Given the description of an element on the screen output the (x, y) to click on. 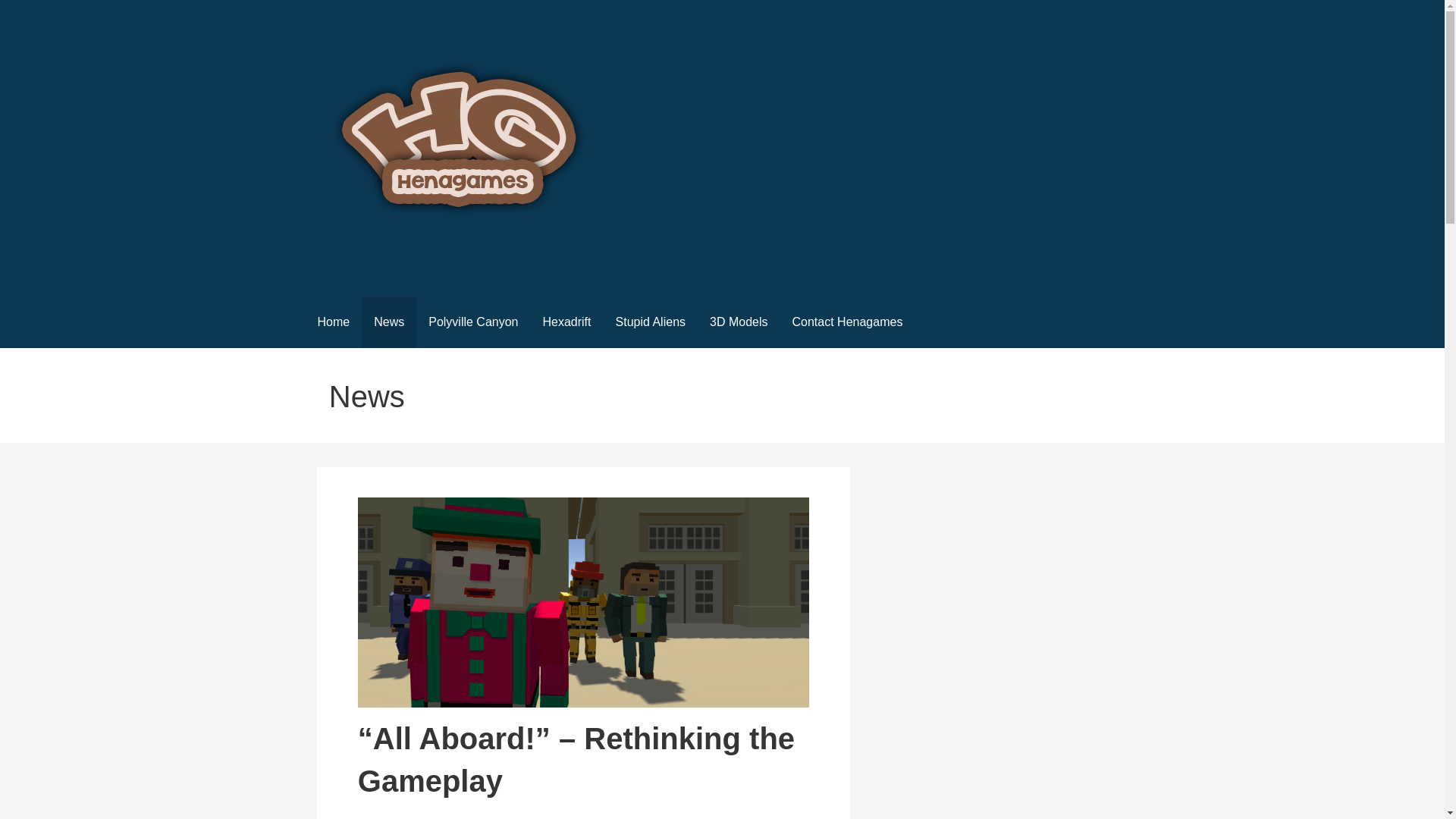
Contact Henagames (847, 322)
Stupid Aliens (651, 322)
Henagames (393, 266)
News (388, 322)
3D Models (737, 322)
Hexadrift (565, 322)
Home (332, 322)
Polyville Canyon (472, 322)
